Given the description of an element on the screen output the (x, y) to click on. 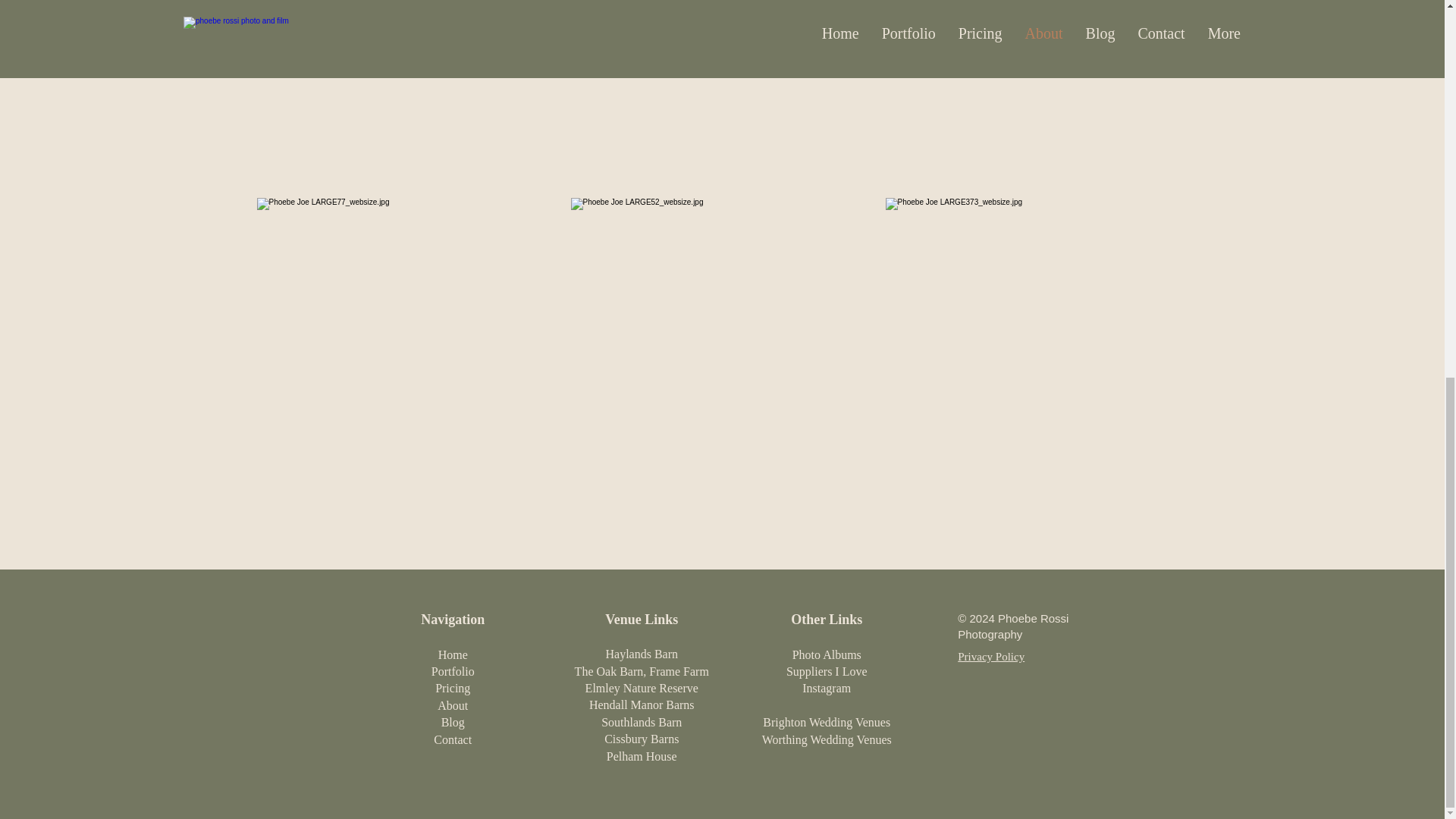
Privacy Policy (991, 656)
Photo Albums (826, 654)
Elmley Nature Reserve (641, 687)
Blog (452, 721)
About (452, 705)
Worthing Wedding Venues (826, 739)
Instagram (826, 687)
The Oak Barn, Frame Farm (642, 671)
Southlands Barn (641, 721)
Pelham House (642, 756)
